Given the description of an element on the screen output the (x, y) to click on. 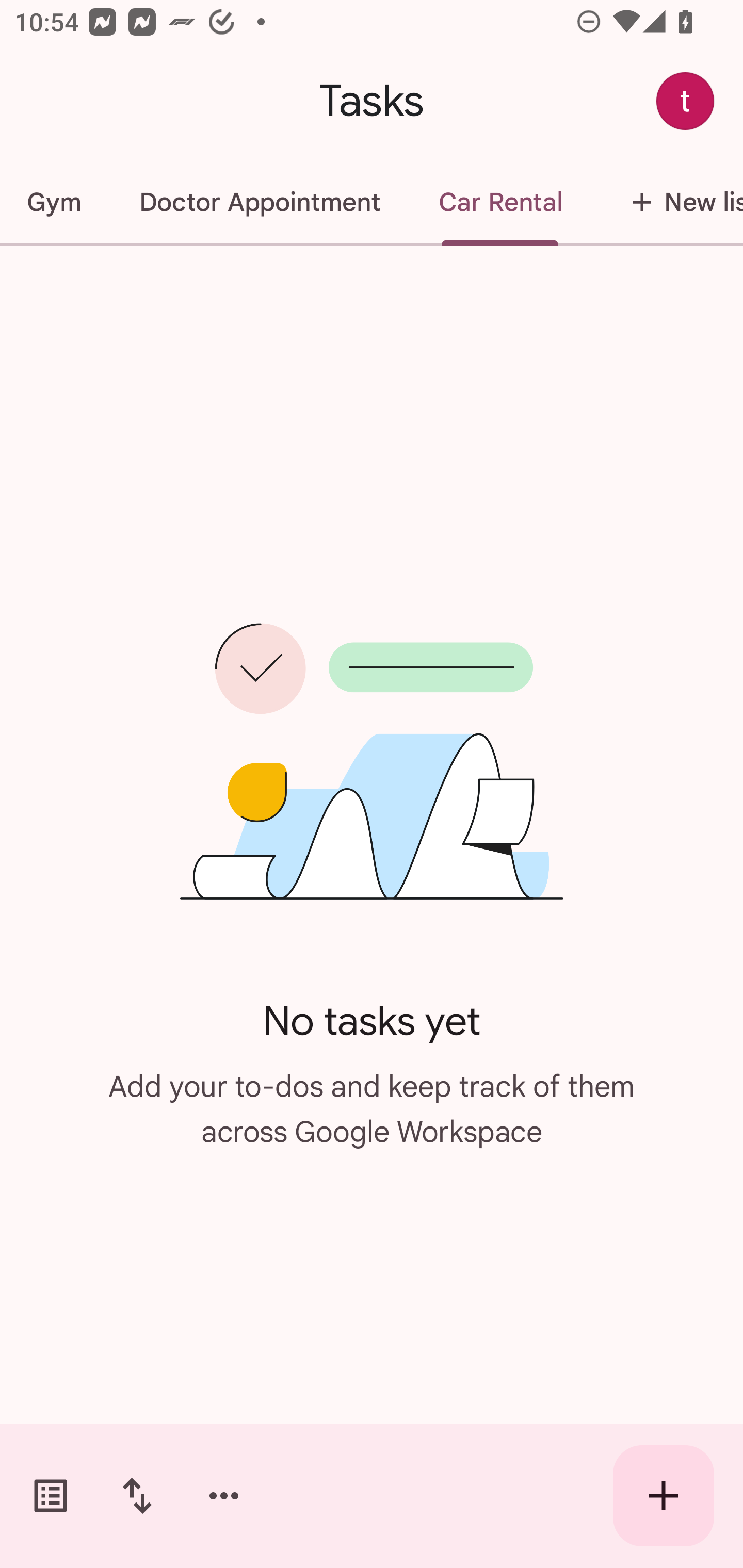
Gym (54, 202)
Doctor Appointment (259, 202)
Switch task lists (50, 1495)
Create new task (663, 1495)
Change sort order (136, 1495)
More options (223, 1495)
